Given the description of an element on the screen output the (x, y) to click on. 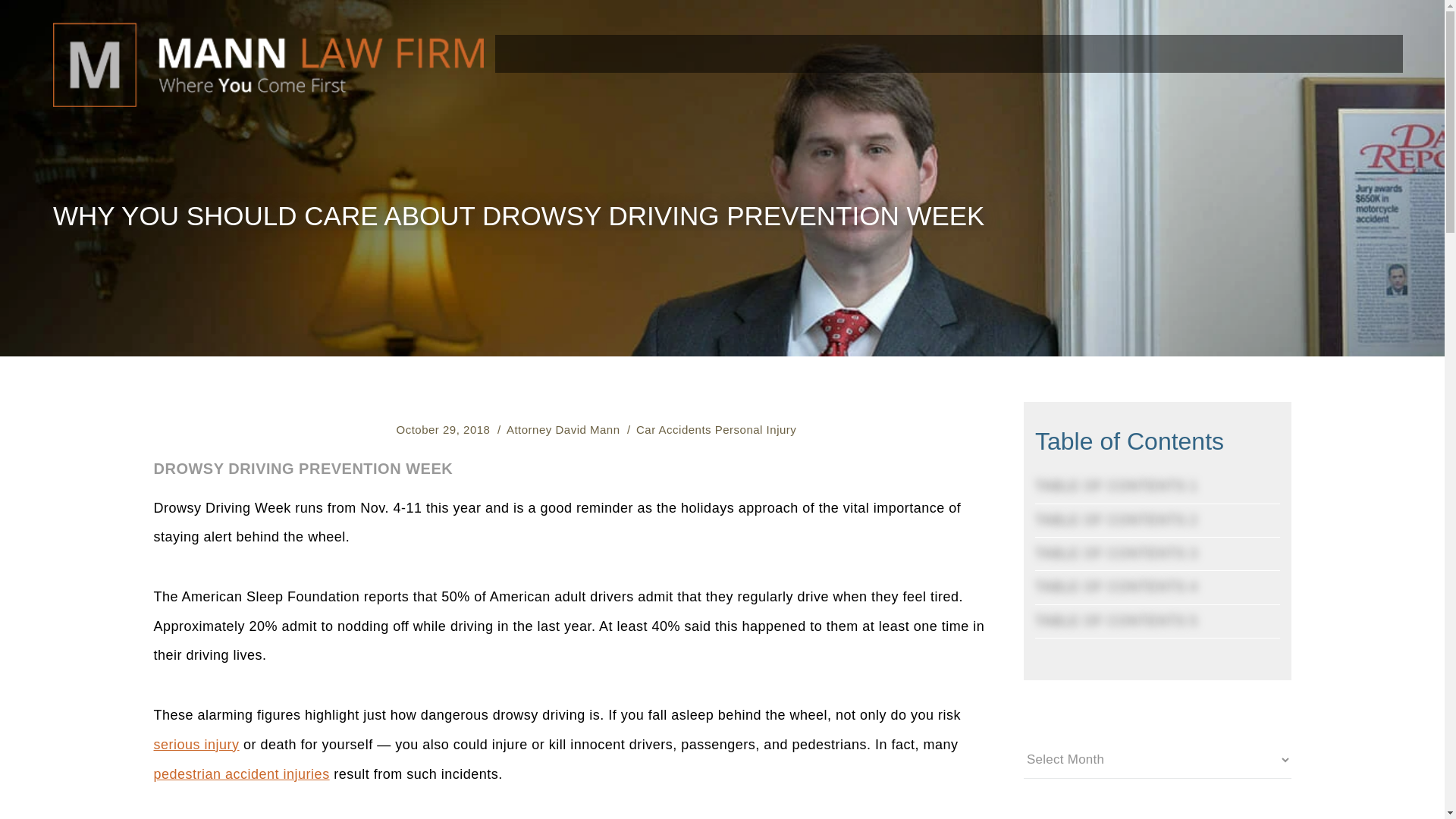
Personal Injury (755, 429)
Primary (673, 429)
Primary (755, 429)
serious injury (195, 744)
TABLE OF CONTENTS 4 (1115, 586)
TABLE OF CONTENTS 1 (1115, 485)
TABLE OF CONTENTS 3 (1115, 553)
pedestrian accident injuries (240, 773)
TABLE OF CONTENTS 5 (1115, 620)
Car Accidents (673, 429)
TABLE OF CONTENTS 2 (1115, 519)
